Given the description of an element on the screen output the (x, y) to click on. 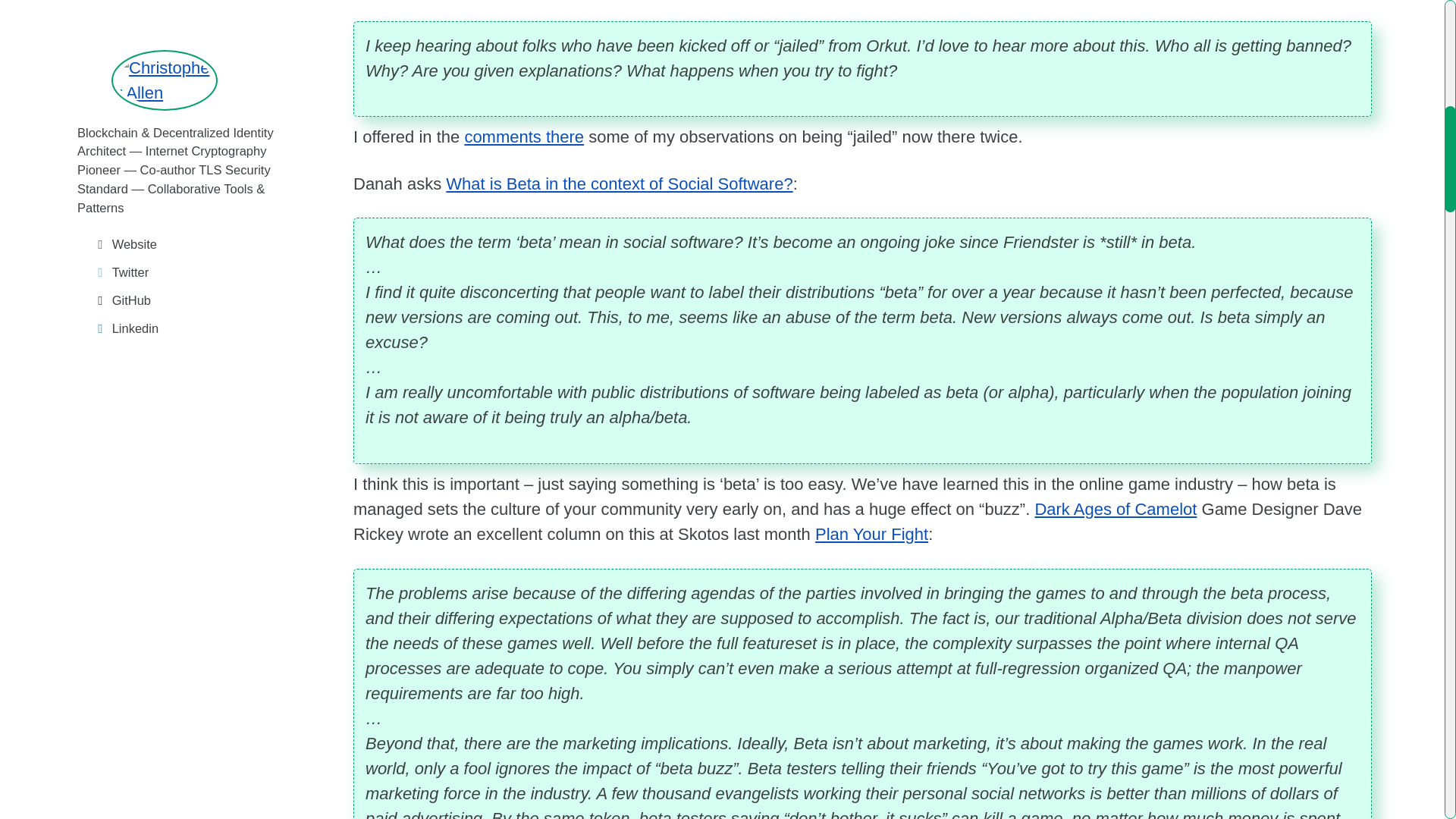
Dark Ages of Camelot (1114, 508)
Plan Your Fight (871, 533)
What is Beta in the context of Social Software? (618, 183)
comments there (523, 136)
